Given the description of an element on the screen output the (x, y) to click on. 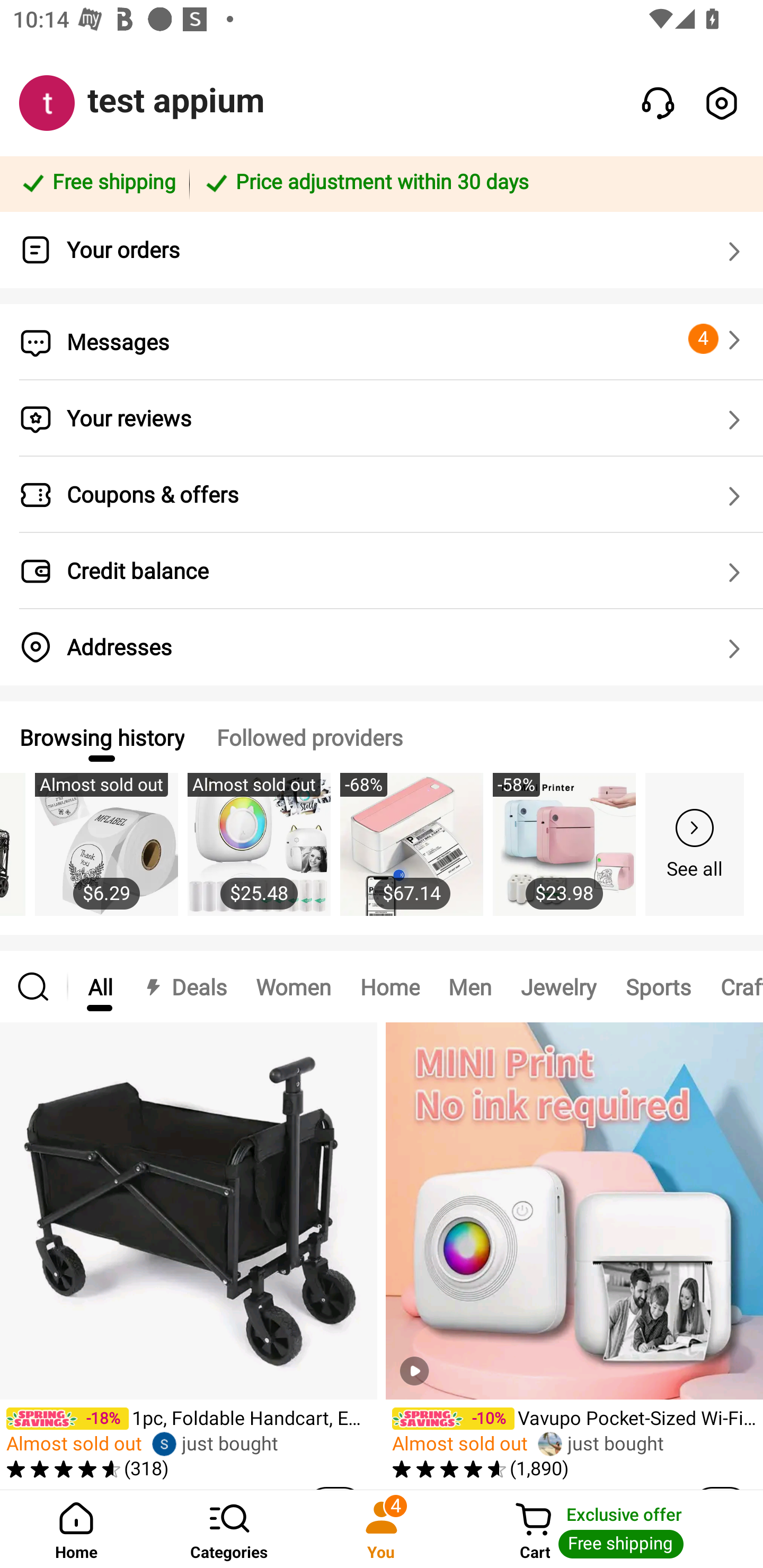
test appium (175, 100)
Free shipping (97, 183)
Price adjustment within 30 days (472, 183)
Your orders (381, 249)
Messages 4 (381, 342)
4 (717, 339)
Your reviews (381, 418)
Coupons & offers (381, 494)
Credit balance (381, 571)
Addresses (381, 647)
Browsing history (101, 736)
Followed providers (308, 736)
Almost sold out $6.29 (106, 853)
Almost sold out $25.48 (258, 853)
-68% $67.14 (411, 853)
-58% $23.98 (563, 853)
See all (694, 844)
All (99, 986)
Deals Deals Deals (183, 986)
Women (293, 986)
Home (389, 986)
Men (469, 986)
Jewelry (558, 986)
Sports (658, 986)
Crafts (734, 986)
Home (76, 1528)
Categories (228, 1528)
You 4 You (381, 1528)
Cart Cart Exclusive offer (610, 1528)
